Given the description of an element on the screen output the (x, y) to click on. 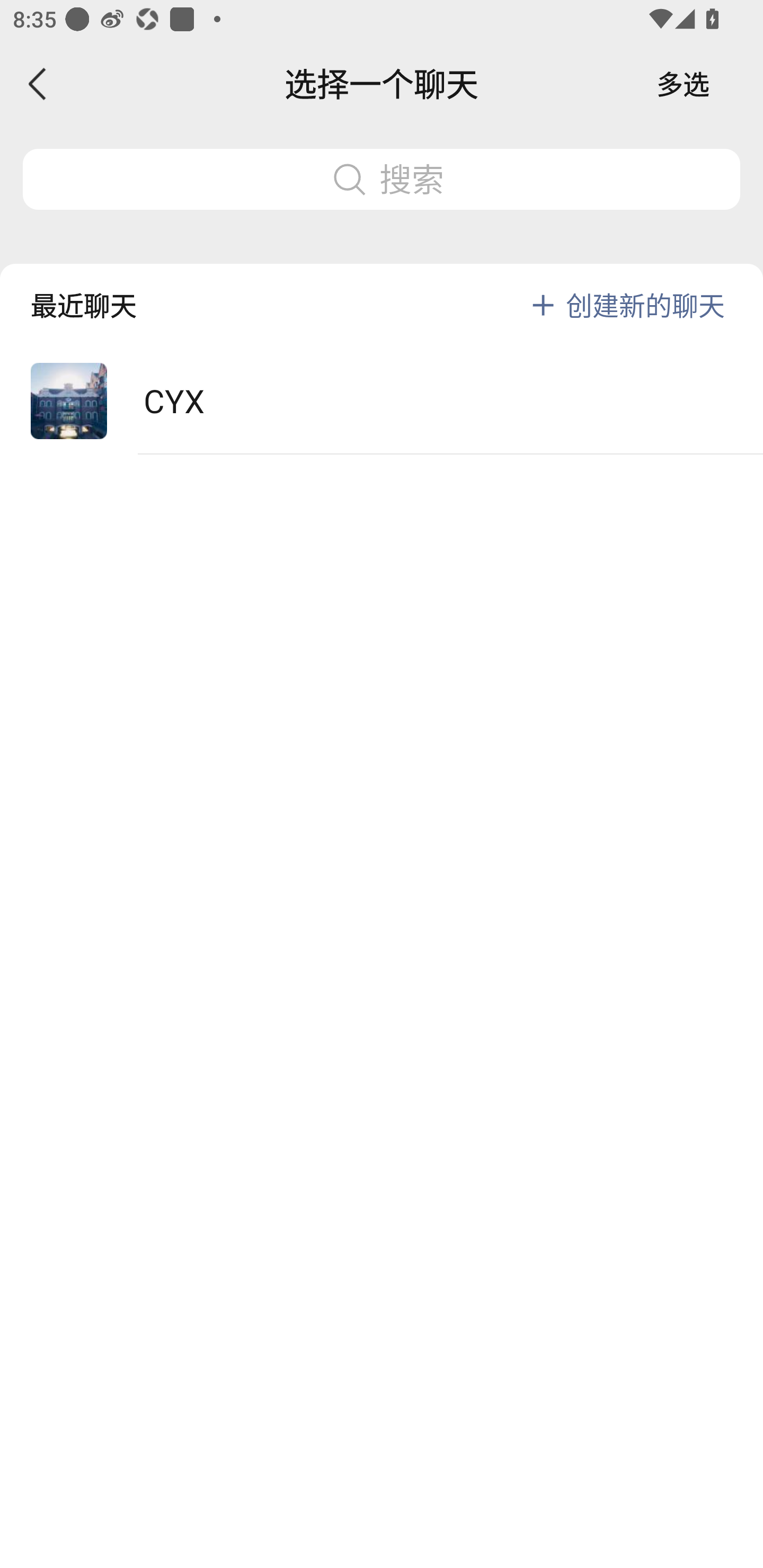
返回 (38, 83)
多选 (683, 83)
创建新的聊天 (645, 304)
CYX (381, 401)
